Given the description of an element on the screen output the (x, y) to click on. 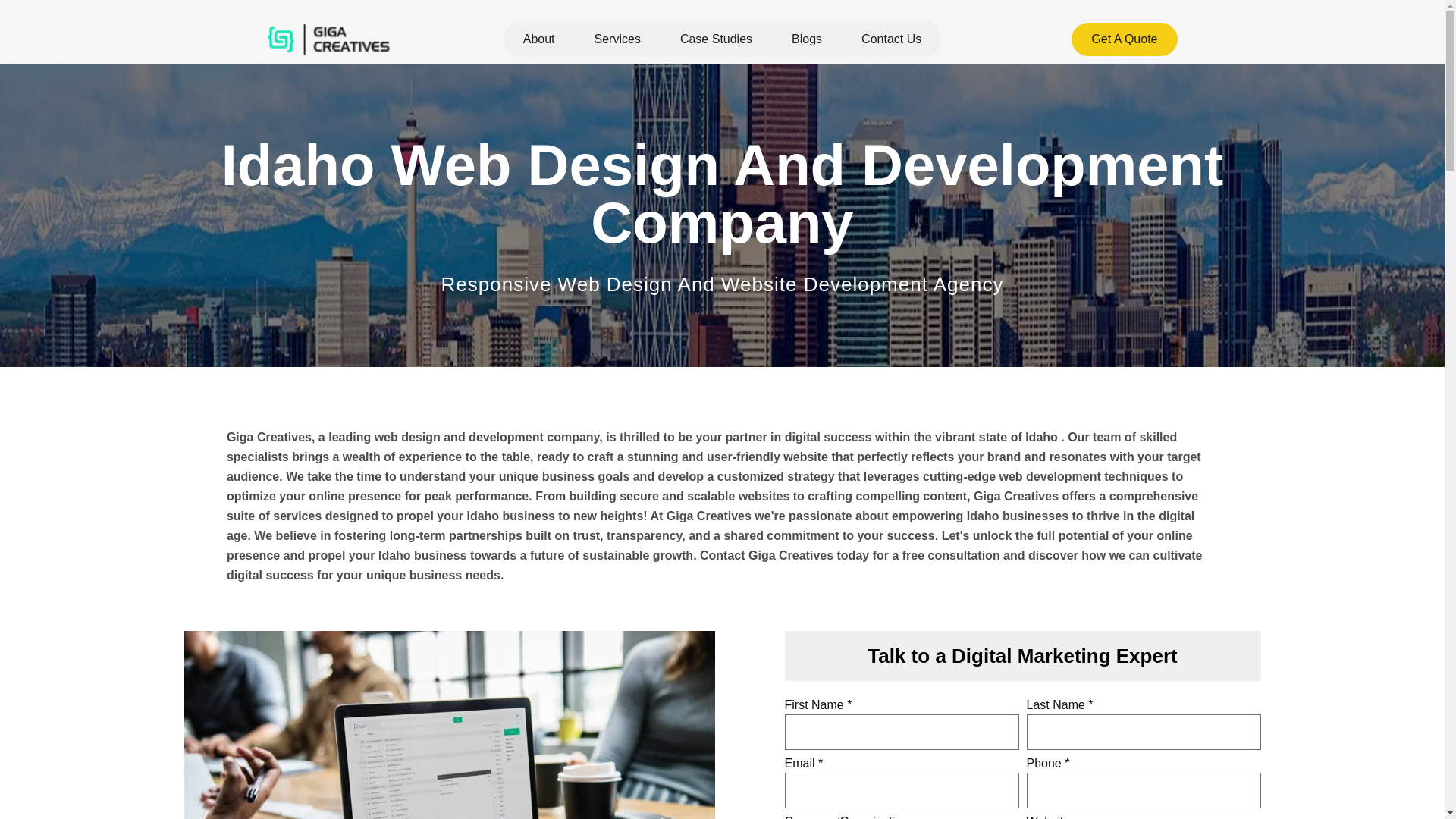
Blogs (806, 39)
About (539, 39)
Get A Quote (1123, 39)
Contact Us (890, 39)
Services (618, 39)
Case Studies (716, 39)
